Given the description of an element on the screen output the (x, y) to click on. 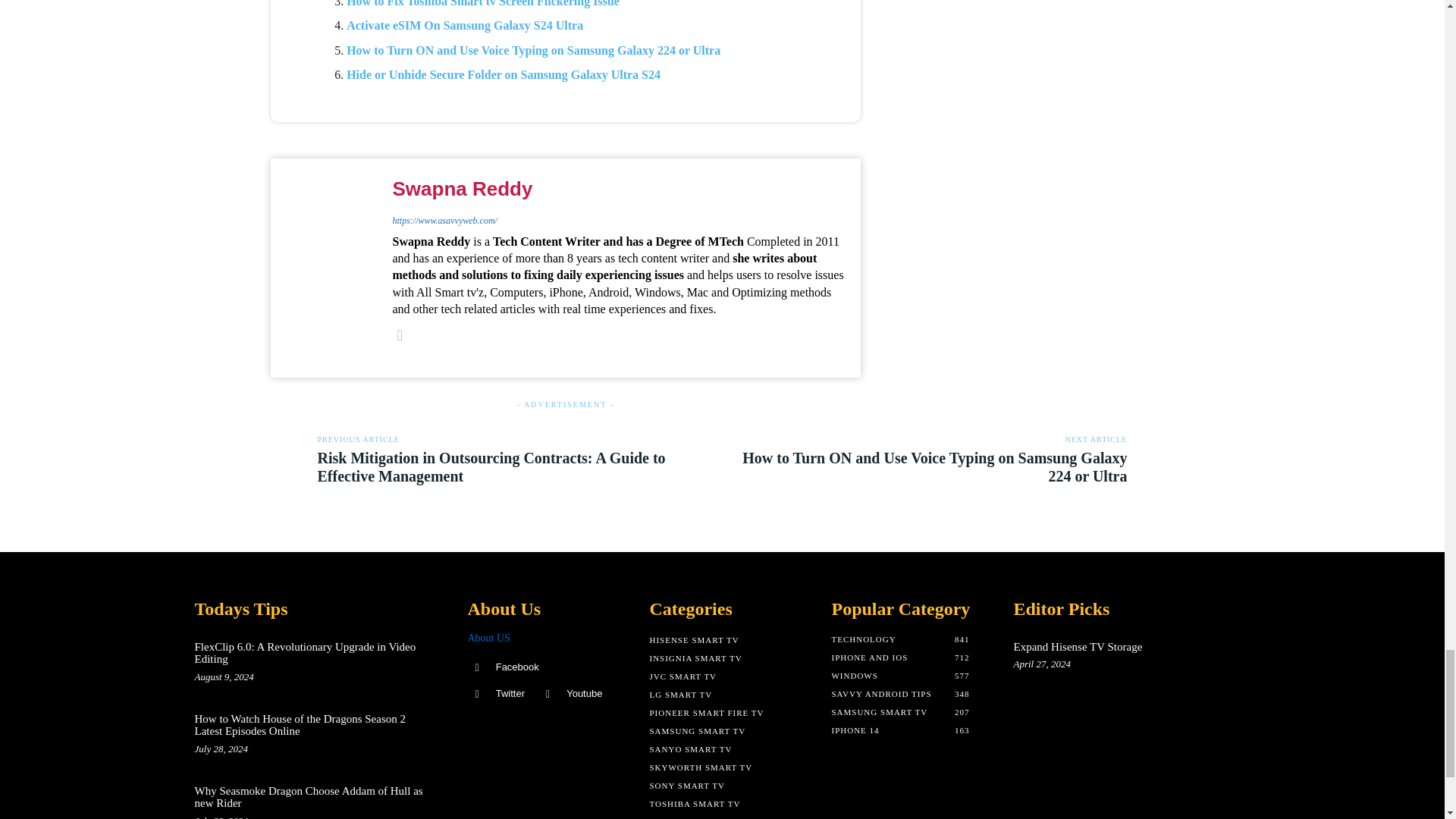
How to Fix Toshiba Smart tv Screen Flickering Issue (483, 3)
Hide or Unhide Secure Folder on Samsung Galaxy Ultra S24 (503, 74)
Activate eSIM On Samsung Galaxy S24 Ultra (464, 24)
